Given the description of an element on the screen output the (x, y) to click on. 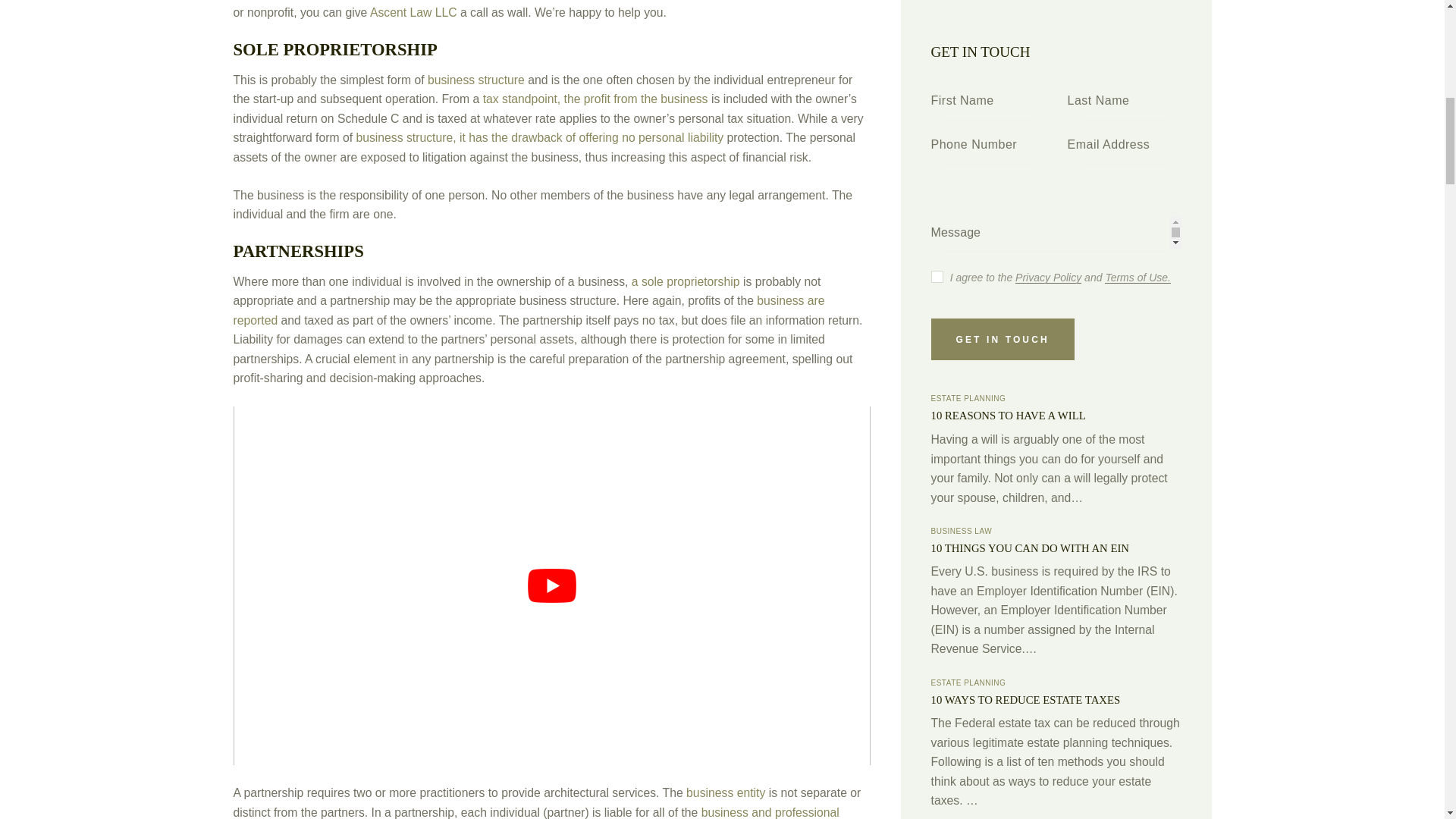
Business Law (1012, 540)
Home (946, 540)
